Given the description of an element on the screen output the (x, y) to click on. 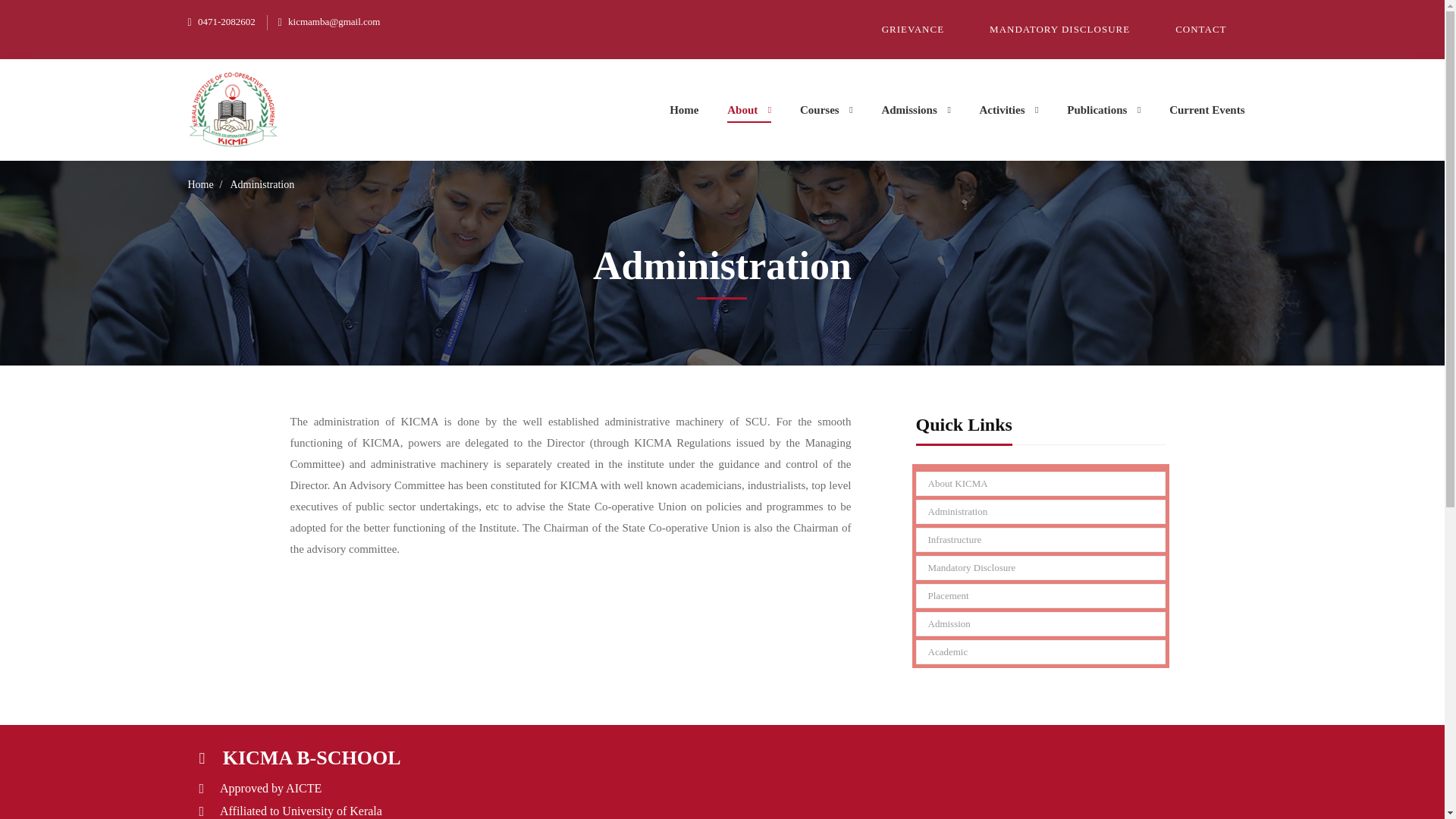
0471-2082602 (221, 21)
Home (683, 109)
Courses (826, 109)
MANDATORY DISCLOSURE (1067, 29)
About KICMA (1040, 483)
CONTACT (1208, 29)
About (749, 109)
GRIEVANCE (920, 29)
Activities (1008, 109)
Publications (1103, 109)
Admissions (914, 109)
Home (200, 184)
Current Events (1206, 109)
